Given the description of an element on the screen output the (x, y) to click on. 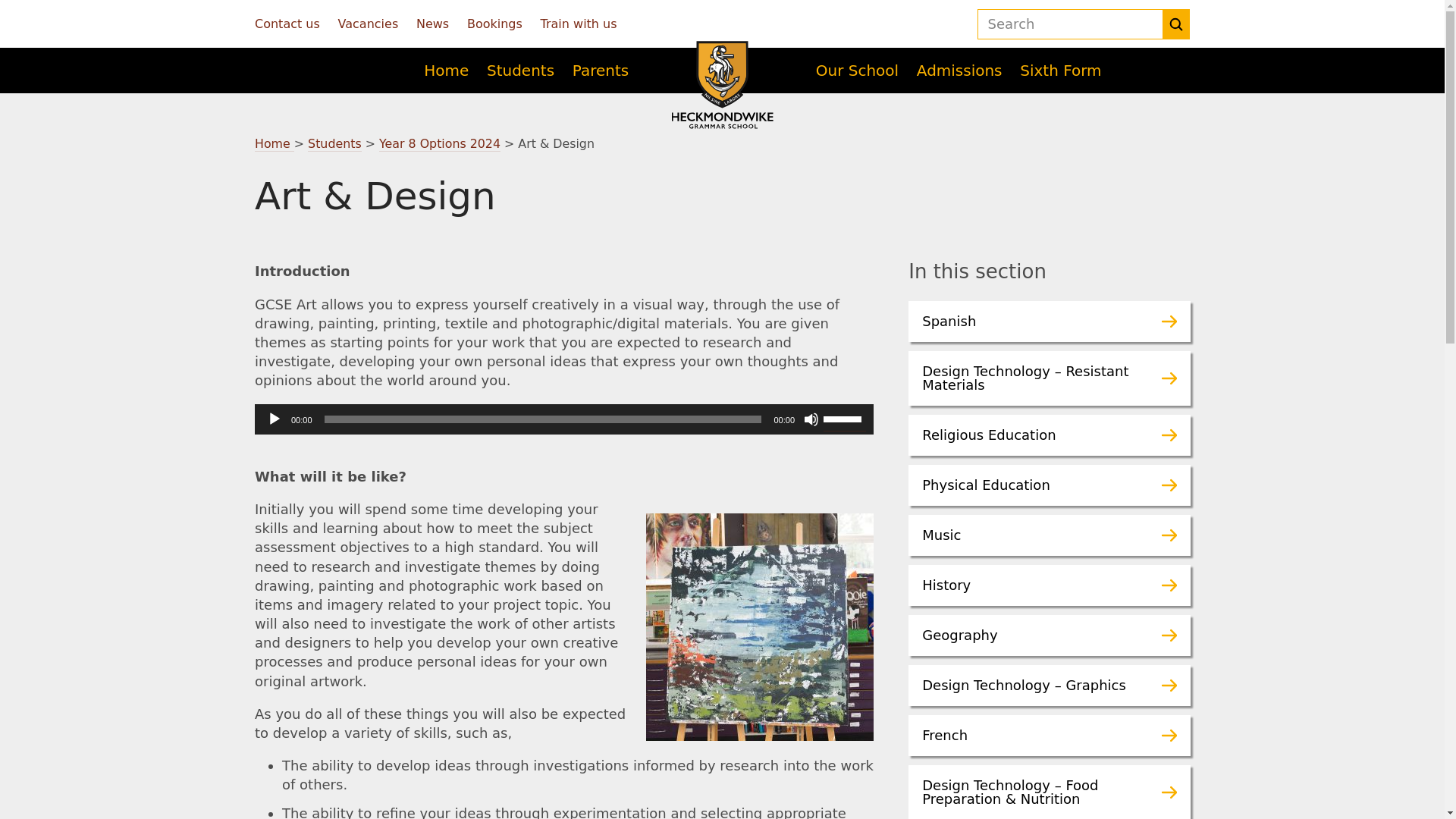
Sixth Form (1060, 70)
Mute (810, 418)
Vacancies (367, 23)
Year 8 Options 2024 (439, 143)
Bookings (494, 23)
Go to Year 8 Options 2024. (439, 143)
Train with us (578, 23)
Home (274, 143)
Our School (856, 70)
Heckmondwike Grammar School (722, 84)
Admissions (960, 70)
Music (1049, 535)
Go to Students. (334, 143)
Geography (1049, 635)
History (1049, 585)
